Given the description of an element on the screen output the (x, y) to click on. 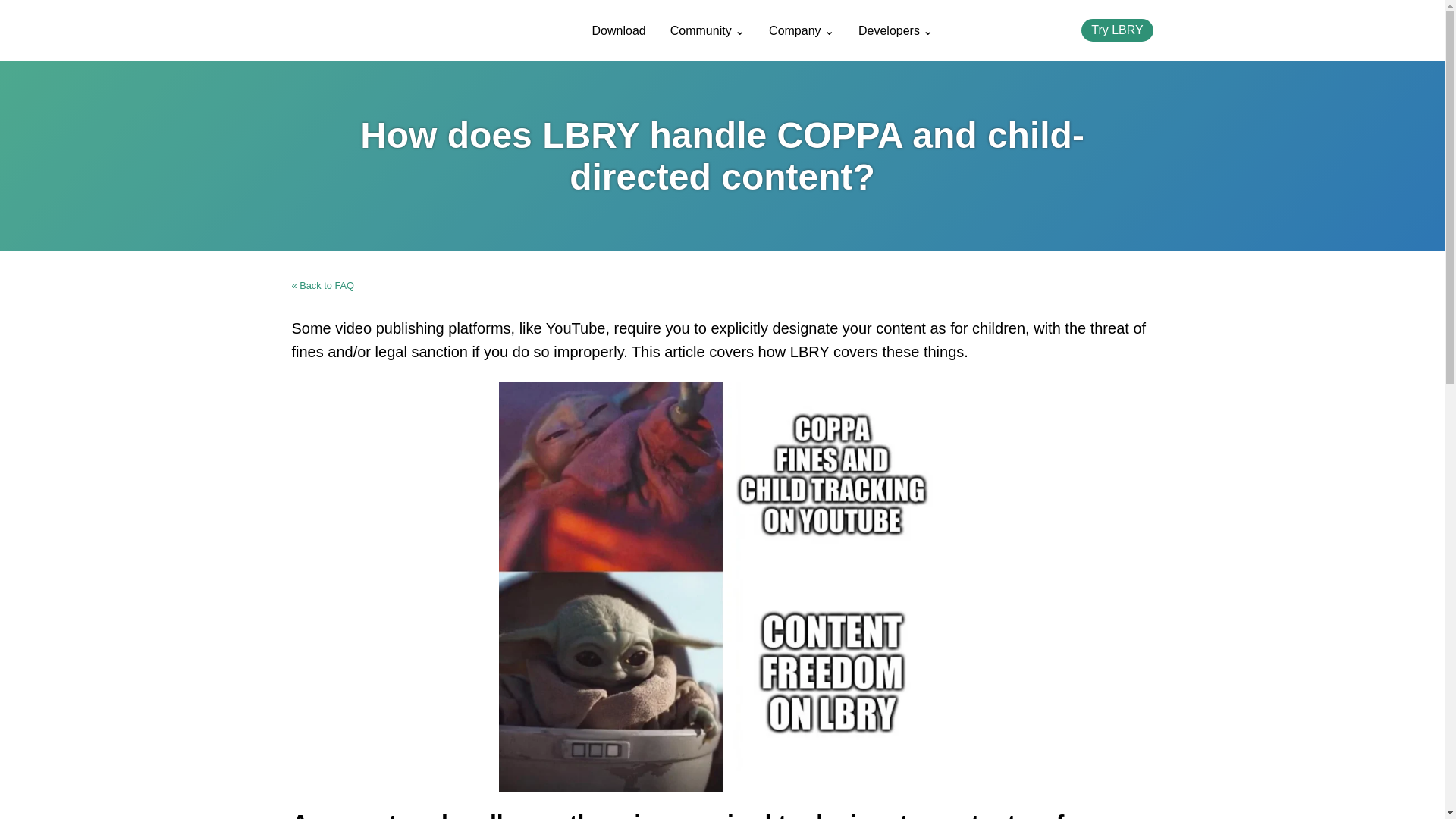
Download (619, 30)
LBRY (369, 30)
Try LBRY (1117, 30)
Search (1056, 30)
